Given the description of an element on the screen output the (x, y) to click on. 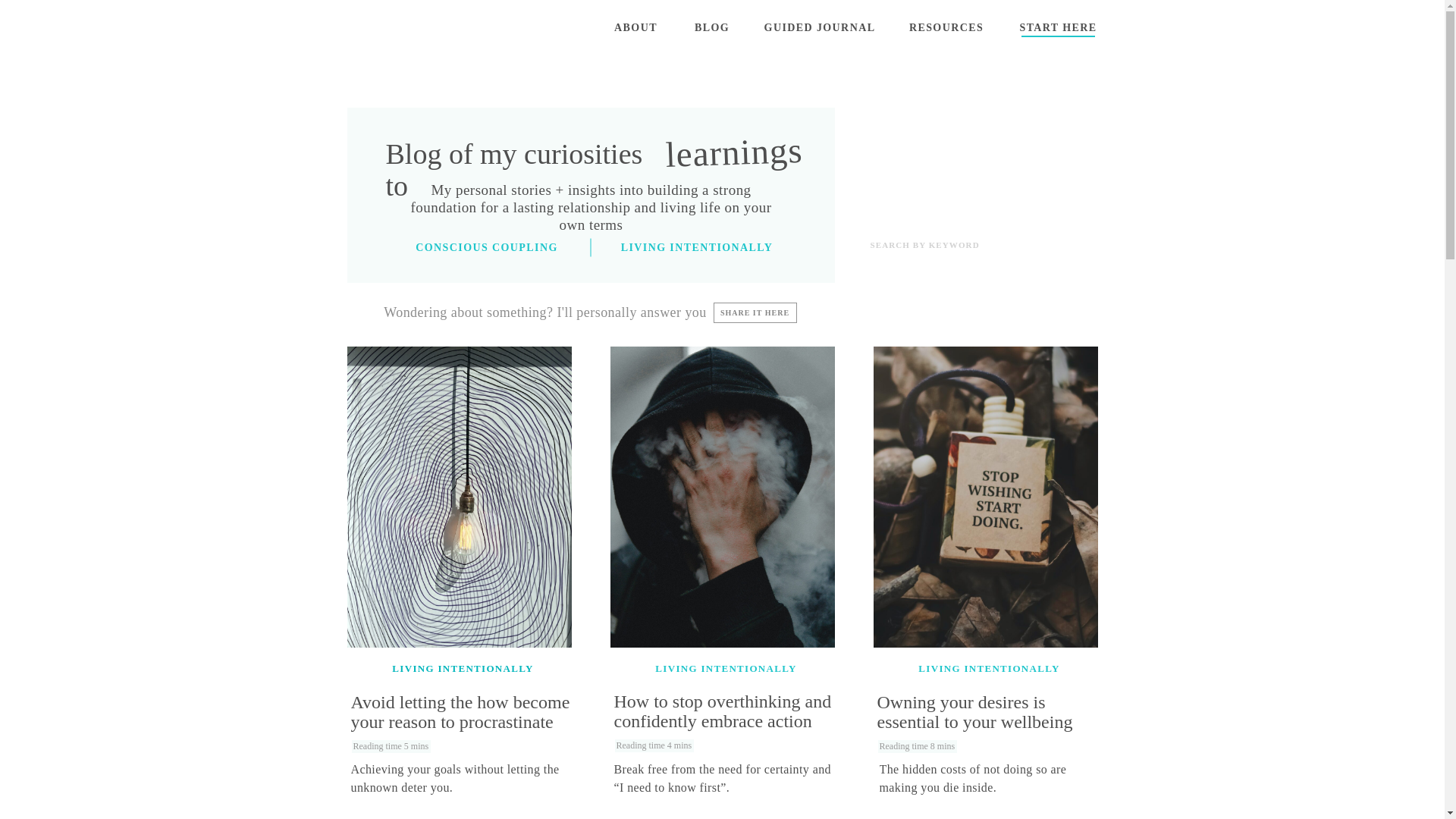
RESOURCES (946, 28)
LIVING INTENTIONALLY (725, 668)
SHARE IT HERE (755, 312)
START HERE (1058, 28)
ABOUT (635, 28)
CONSCIOUS COUPLING (486, 247)
Avoid letting the how become your reason to procrastinate (462, 722)
LIVING INTENTIONALLY (988, 668)
LIVING INTENTIONALLY (696, 247)
How to stop overthinking and confidently embrace action (726, 721)
